Given the description of an element on the screen output the (x, y) to click on. 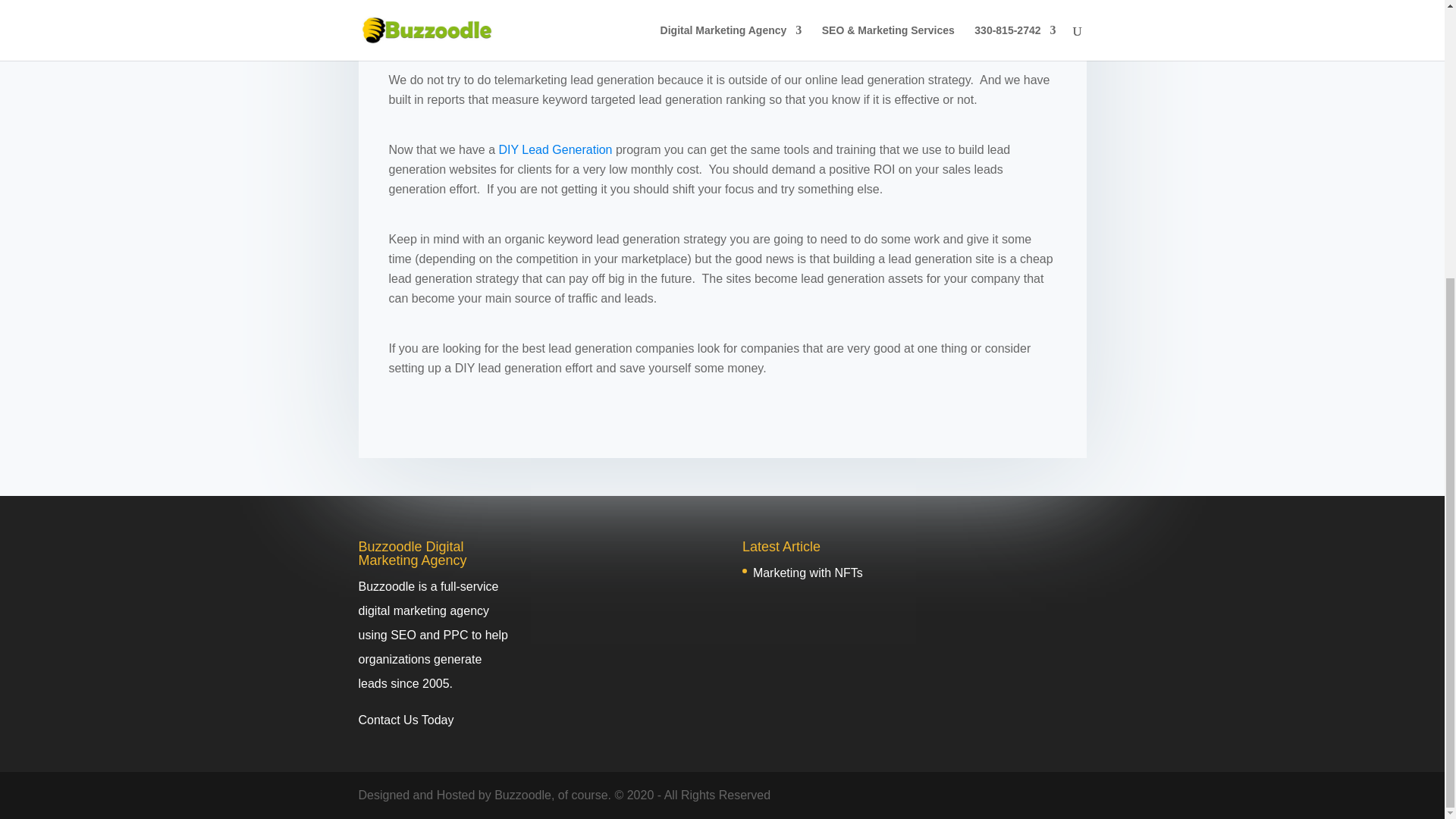
DIY Lead Generation (554, 149)
Marketing with NFTs (807, 572)
Contact Us Today (405, 719)
